Given the description of an element on the screen output the (x, y) to click on. 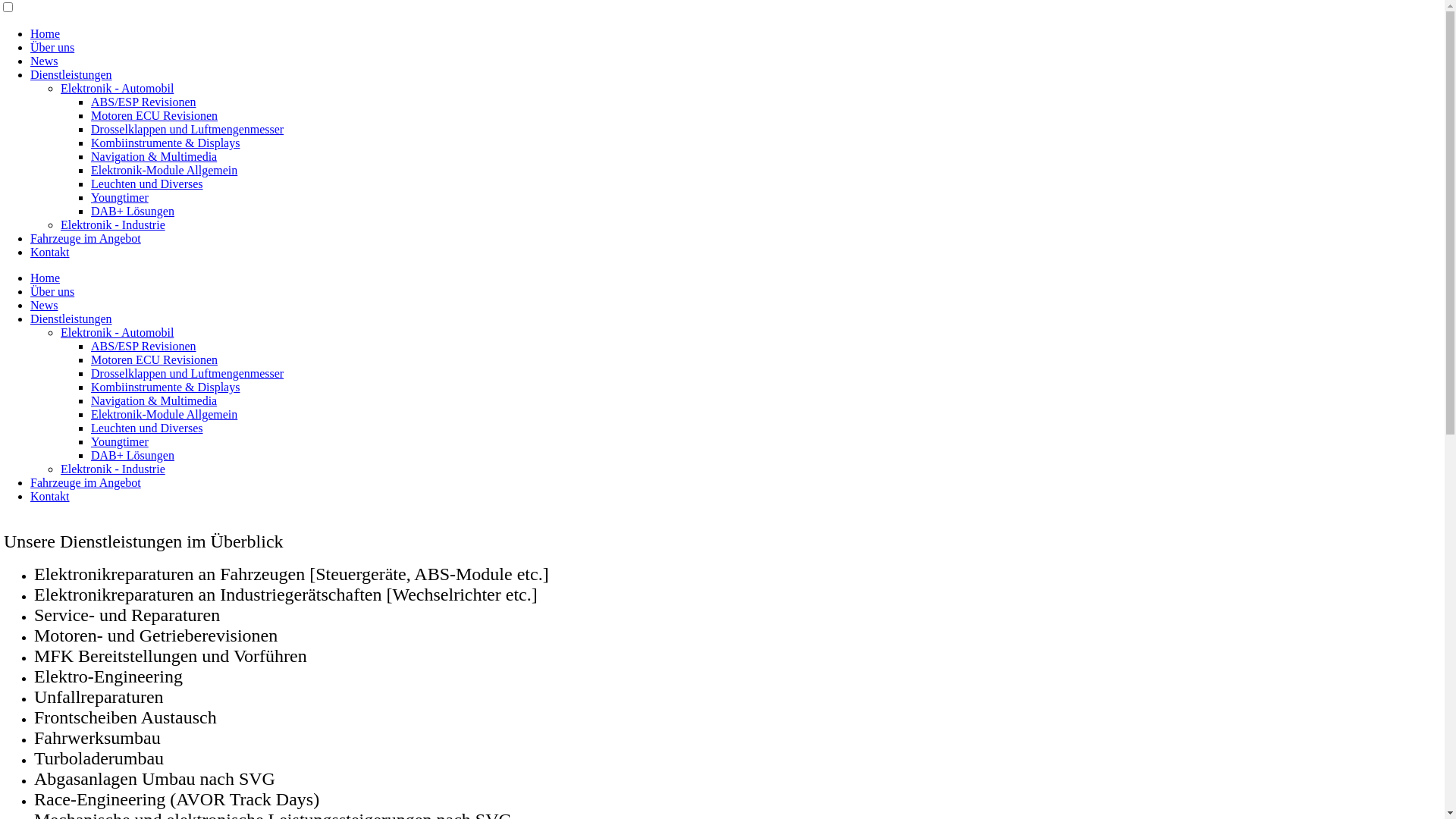
News Element type: text (43, 60)
Drosselklappen und Luftmengenmesser Element type: text (187, 373)
Fahrzeuge im Angebot Element type: text (85, 238)
Navigation & Multimedia Element type: text (153, 156)
Navigation & Multimedia Element type: text (153, 400)
Elektronik - Industrie Element type: text (112, 224)
Home Element type: text (44, 33)
Leuchten und Diverses Element type: text (147, 427)
Elektronik - Automobil Element type: text (116, 332)
Kontakt Element type: text (49, 251)
ABS/ESP Revisionen Element type: text (143, 101)
Dienstleistungen Element type: text (71, 74)
Elektronik-Module Allgemein Element type: text (164, 413)
Kombiinstrumente & Displays Element type: text (165, 386)
Kombiinstrumente & Displays Element type: text (165, 142)
Drosselklappen und Luftmengenmesser Element type: text (187, 128)
Elektronik - Automobil Element type: text (116, 87)
Elektronik-Module Allgemein Element type: text (164, 169)
Dienstleistungen Element type: text (71, 318)
News Element type: text (43, 304)
Kontakt Element type: text (49, 495)
Youngtimer Element type: text (119, 197)
ABS/ESP Revisionen Element type: text (143, 345)
Elektronik - Industrie Element type: text (112, 468)
Youngtimer Element type: text (119, 441)
Motoren ECU Revisionen Element type: text (154, 359)
Motoren ECU Revisionen Element type: text (154, 115)
Leuchten und Diverses Element type: text (147, 183)
Fahrzeuge im Angebot Element type: text (85, 482)
Home Element type: text (44, 277)
